Given the description of an element on the screen output the (x, y) to click on. 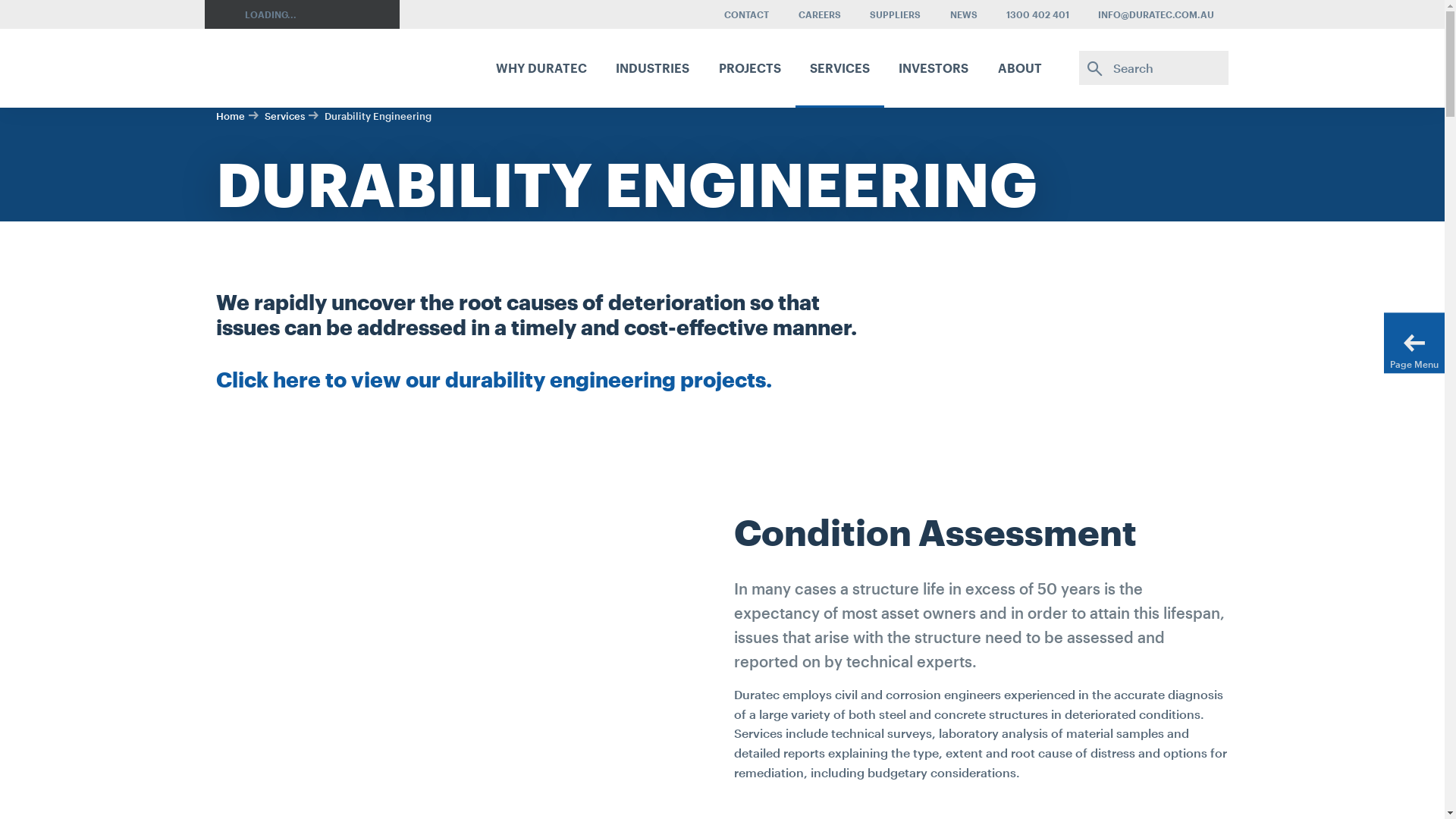
Services Element type: text (285, 115)
WHY DURATEC Element type: text (541, 67)
Click here to view our durability engineering projects. Element type: text (493, 379)
NEWS Element type: text (963, 14)
INVESTORS Element type: text (933, 67)
INDUSTRIES Element type: text (652, 67)
SUPPLIERS Element type: text (895, 14)
CONTACT Element type: text (746, 14)
ABOUT Element type: text (1018, 67)
Home Element type: text (231, 115)
PROJECTS Element type: text (748, 67)
CAREERS Element type: text (819, 14)
SERVICES Element type: text (839, 67)
Page Menu Element type: text (1413, 342)
1300 402 401 Element type: text (1037, 14)
INFO@DURATEC.COM.AU Element type: text (1155, 14)
